Given the description of an element on the screen output the (x, y) to click on. 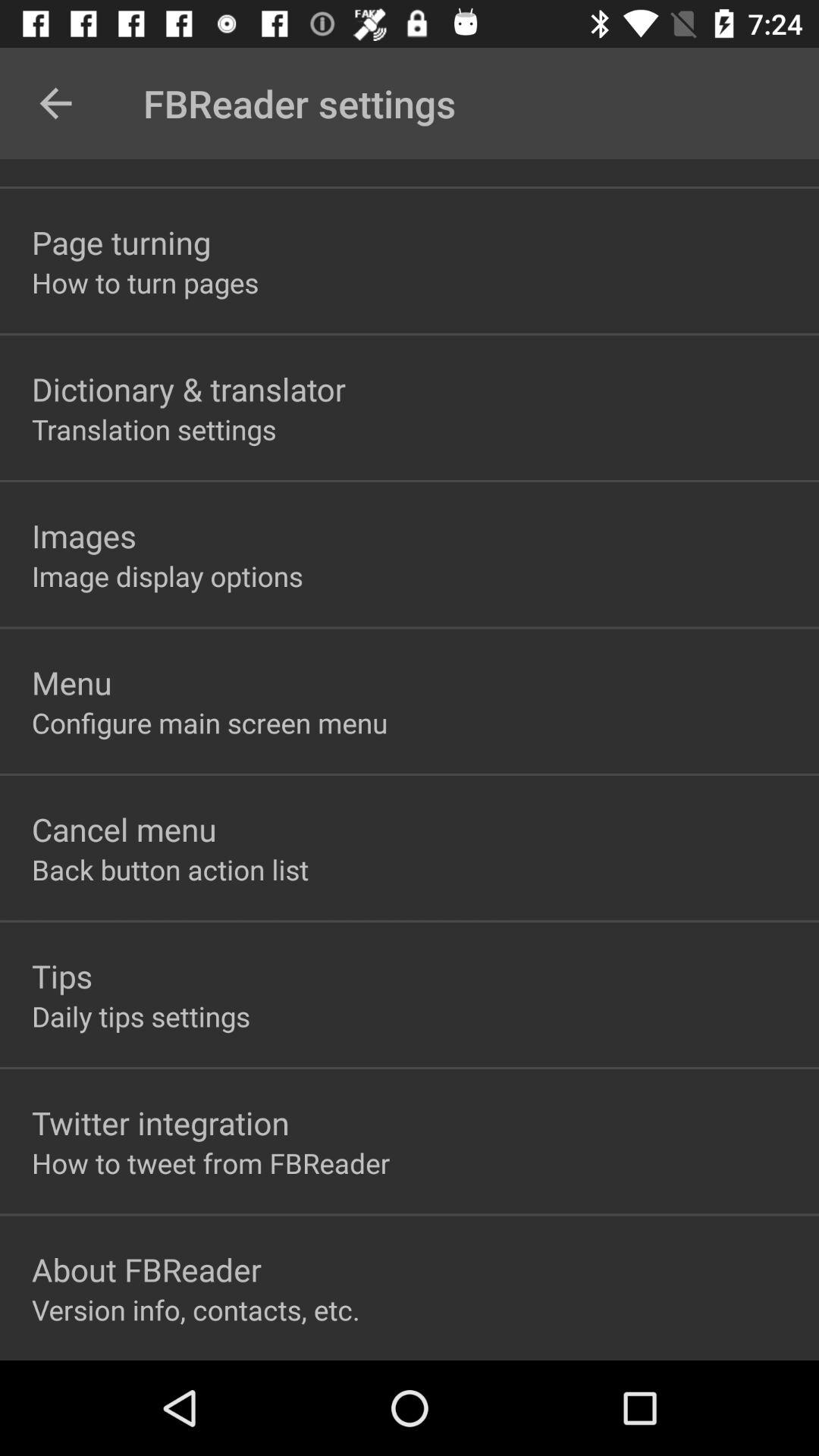
select the item below the about fbreader item (195, 1309)
